Given the description of an element on the screen output the (x, y) to click on. 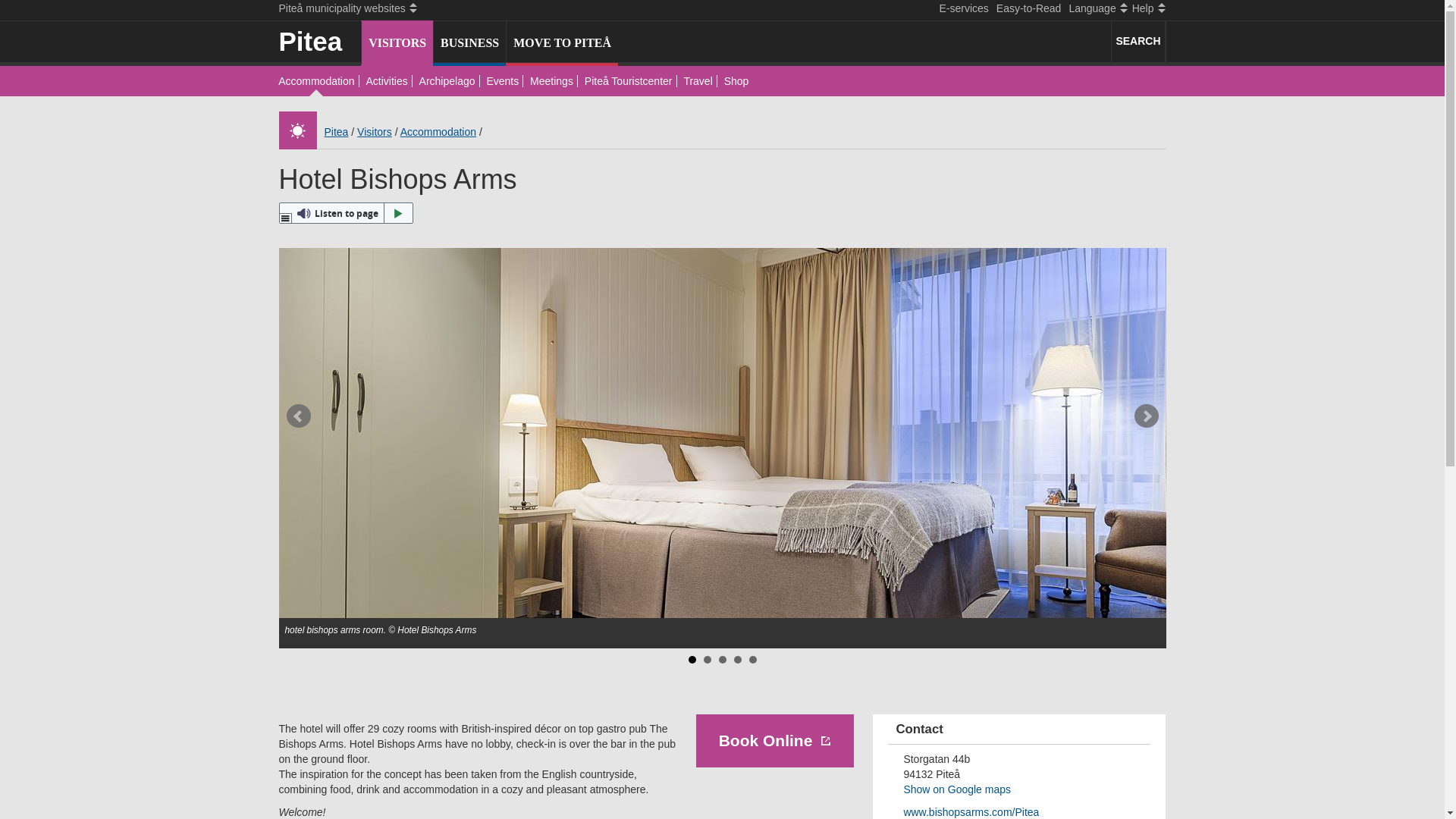
SEARCH (1137, 41)
Pitea (336, 132)
Pitea (320, 35)
Travel (697, 81)
Accommodation (438, 132)
Activities (385, 81)
Events (501, 81)
Archipelago (446, 81)
Easy-to-Read (1028, 8)
VISITORS (395, 42)
